Given the description of an element on the screen output the (x, y) to click on. 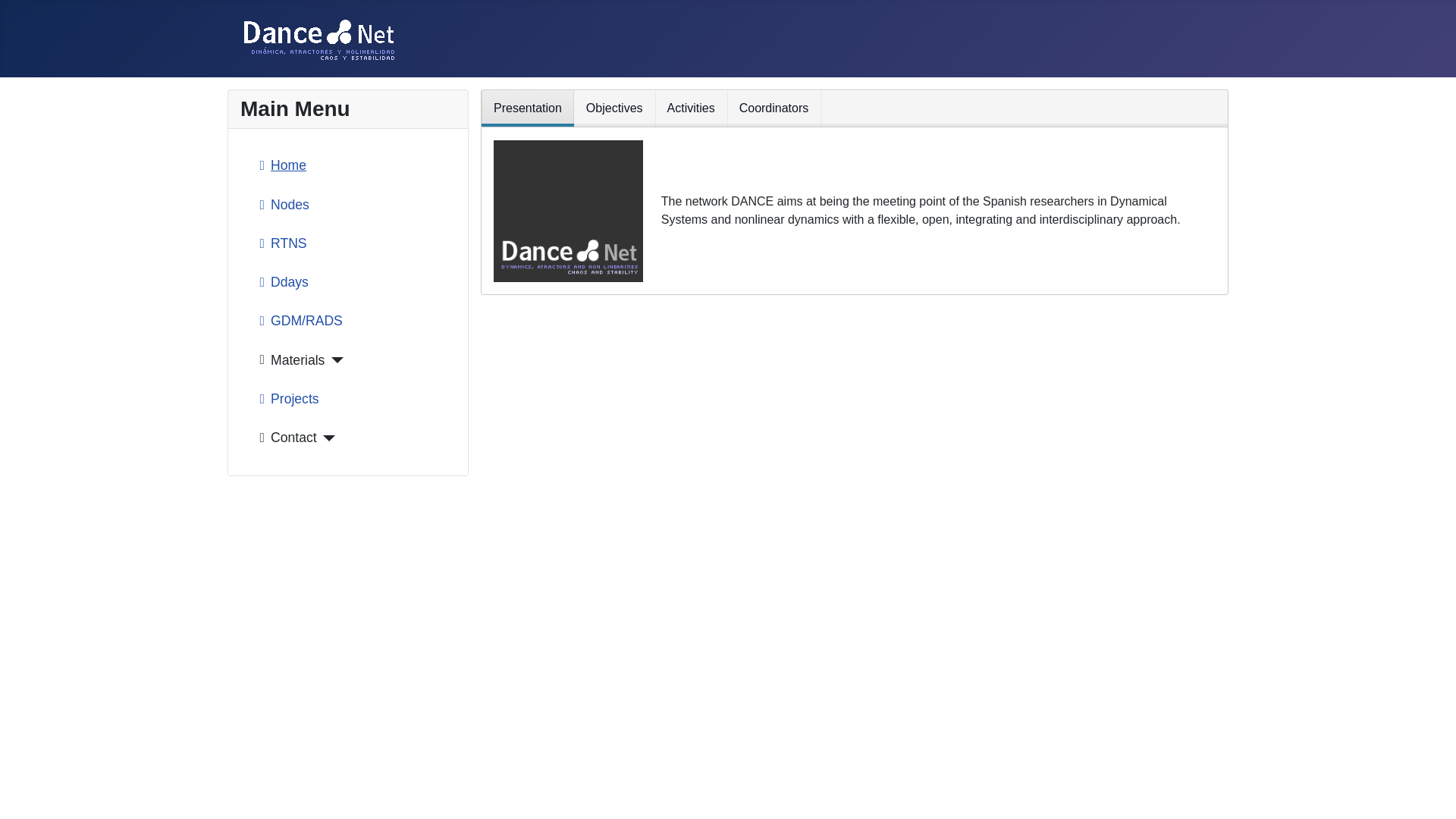
Coordinators (773, 108)
Nodes (280, 205)
Activities (690, 108)
Objectives (614, 108)
Contact (294, 438)
Home (279, 166)
RTNS (280, 243)
Materials (298, 360)
Ddays (280, 282)
Projects (285, 399)
Presentation (527, 108)
